Given the description of an element on the screen output the (x, y) to click on. 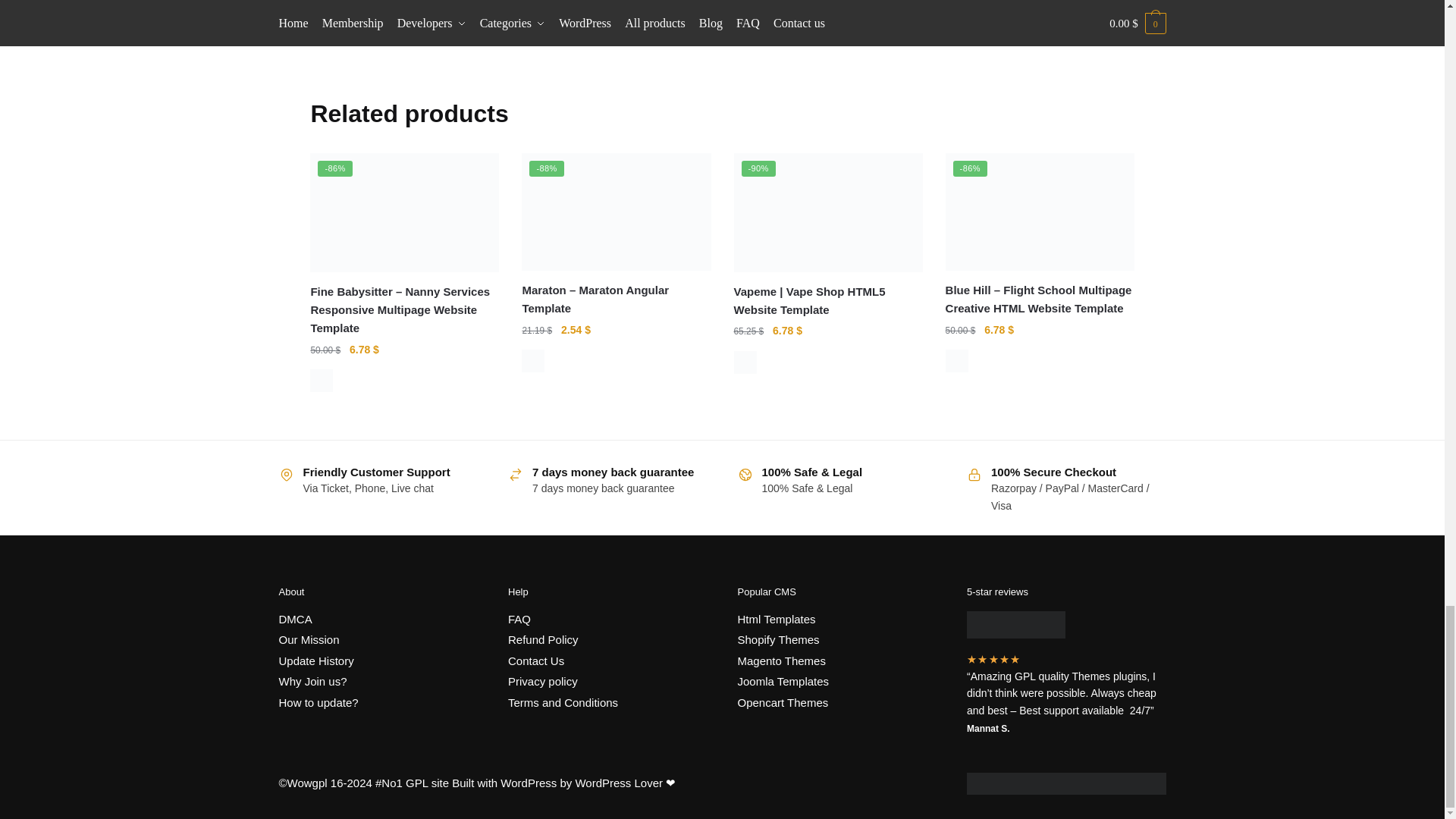
Html (745, 362)
Html (956, 360)
Html (532, 360)
Html (321, 380)
